Given the description of an element on the screen output the (x, y) to click on. 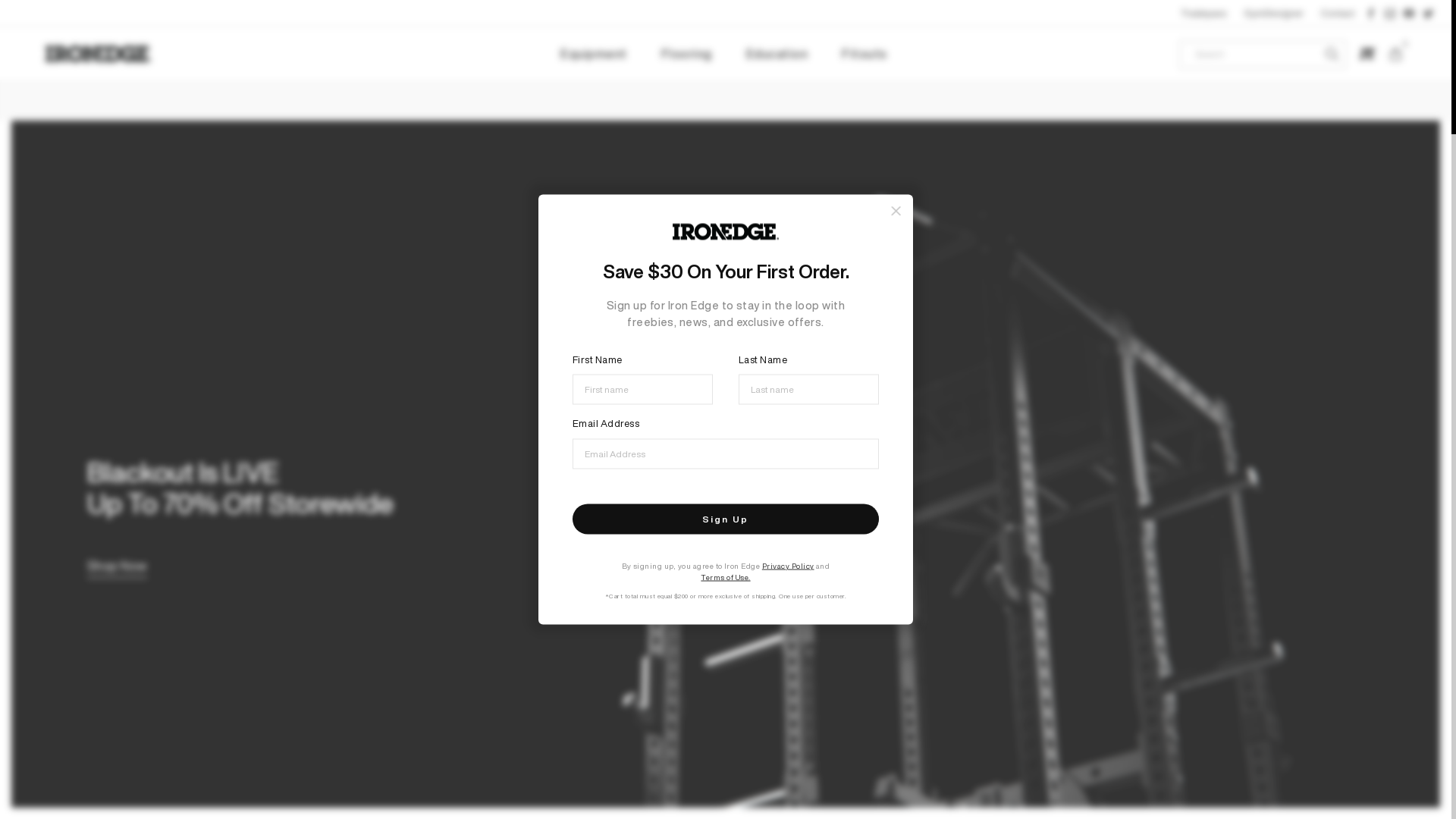
Magento Commerce Element type: hover (98, 53)
Shop Now Element type: text (117, 567)
MY ACCOUNT Element type: text (1366, 54)
youtube Element type: text (1408, 13)
Equipment Element type: text (593, 53)
Tradepass Element type: text (1203, 13)
Flooring Element type: text (686, 53)
Contact Element type: text (1337, 13)
facebook Element type: text (1371, 13)
instagram Element type: text (1389, 13)
Fitouts Element type: text (864, 53)
Education Element type: text (776, 53)
0 Element type: text (1394, 53)
twitter Element type: text (1427, 13)
GymDesigner Element type: text (1273, 13)
Go Element type: hover (1331, 53)
